Given the description of an element on the screen output the (x, y) to click on. 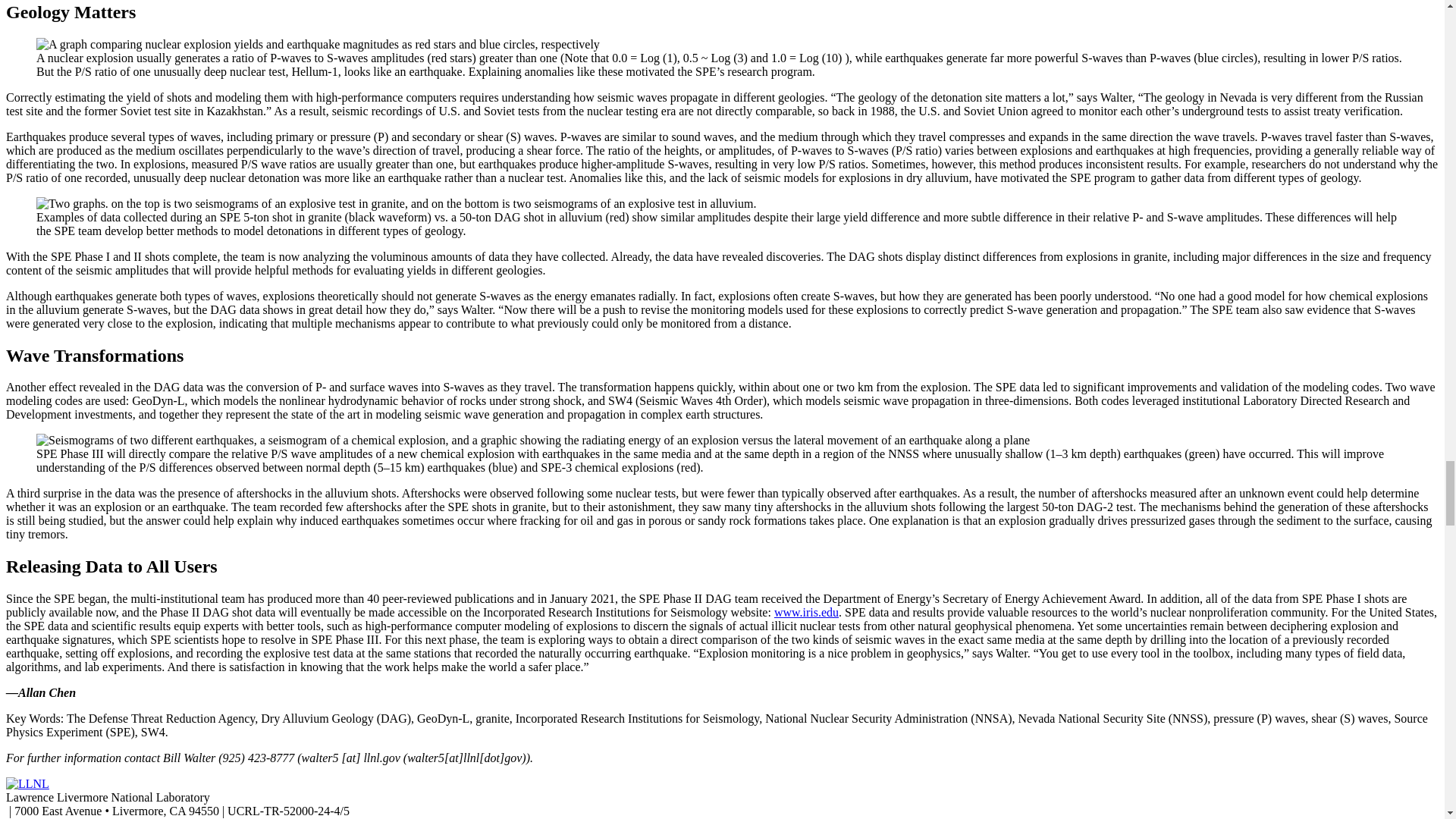
3-walter4.jpg (532, 440)
3-walter2.jpg (317, 44)
3-walter3.jpg (395, 203)
